Given the description of an element on the screen output the (x, y) to click on. 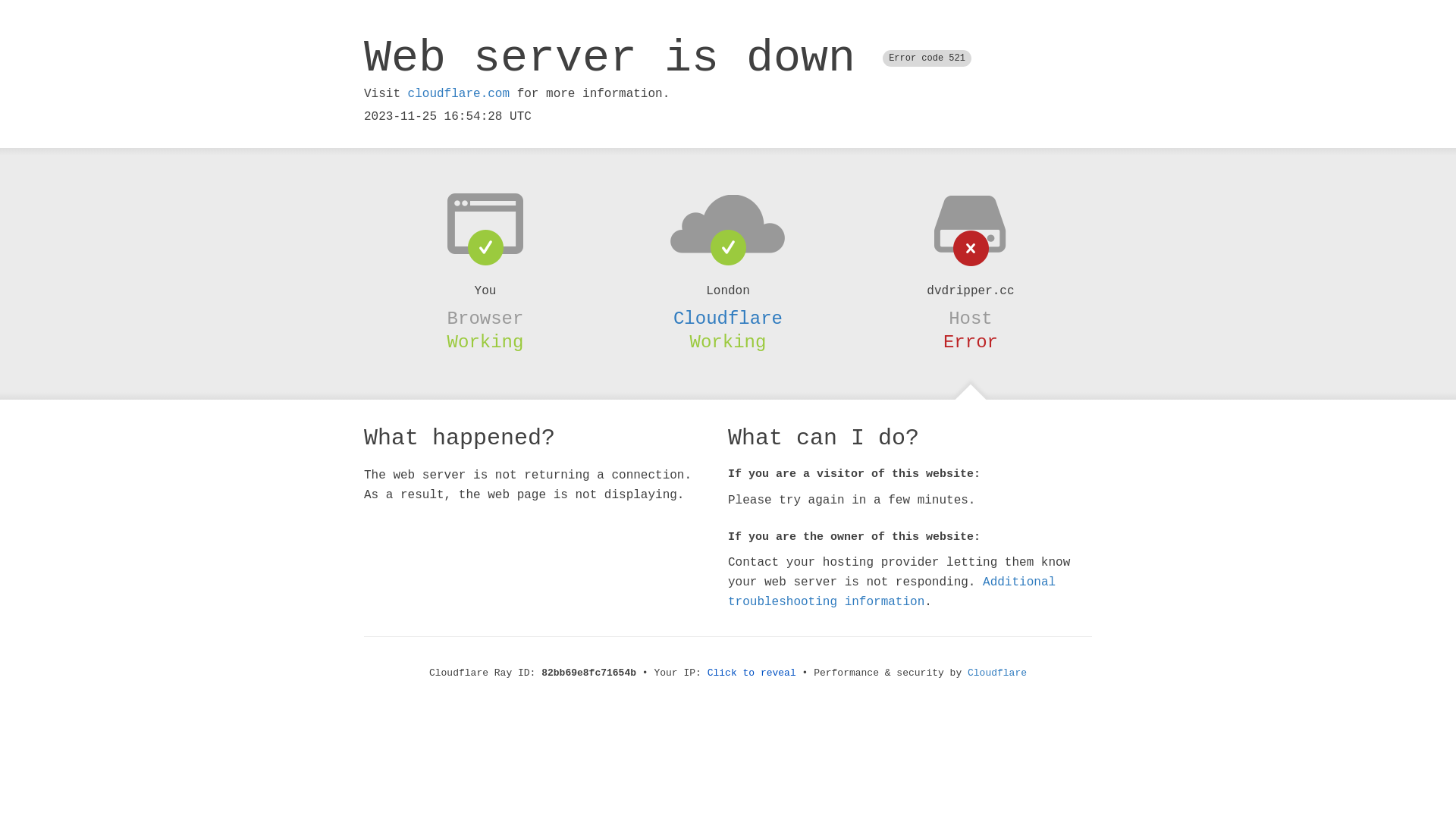
Cloudflare Element type: text (727, 318)
Cloudflare Element type: text (996, 672)
Additional troubleshooting information Element type: text (891, 591)
Click to reveal Element type: text (751, 672)
cloudflare.com Element type: text (458, 93)
